Given the description of an element on the screen output the (x, y) to click on. 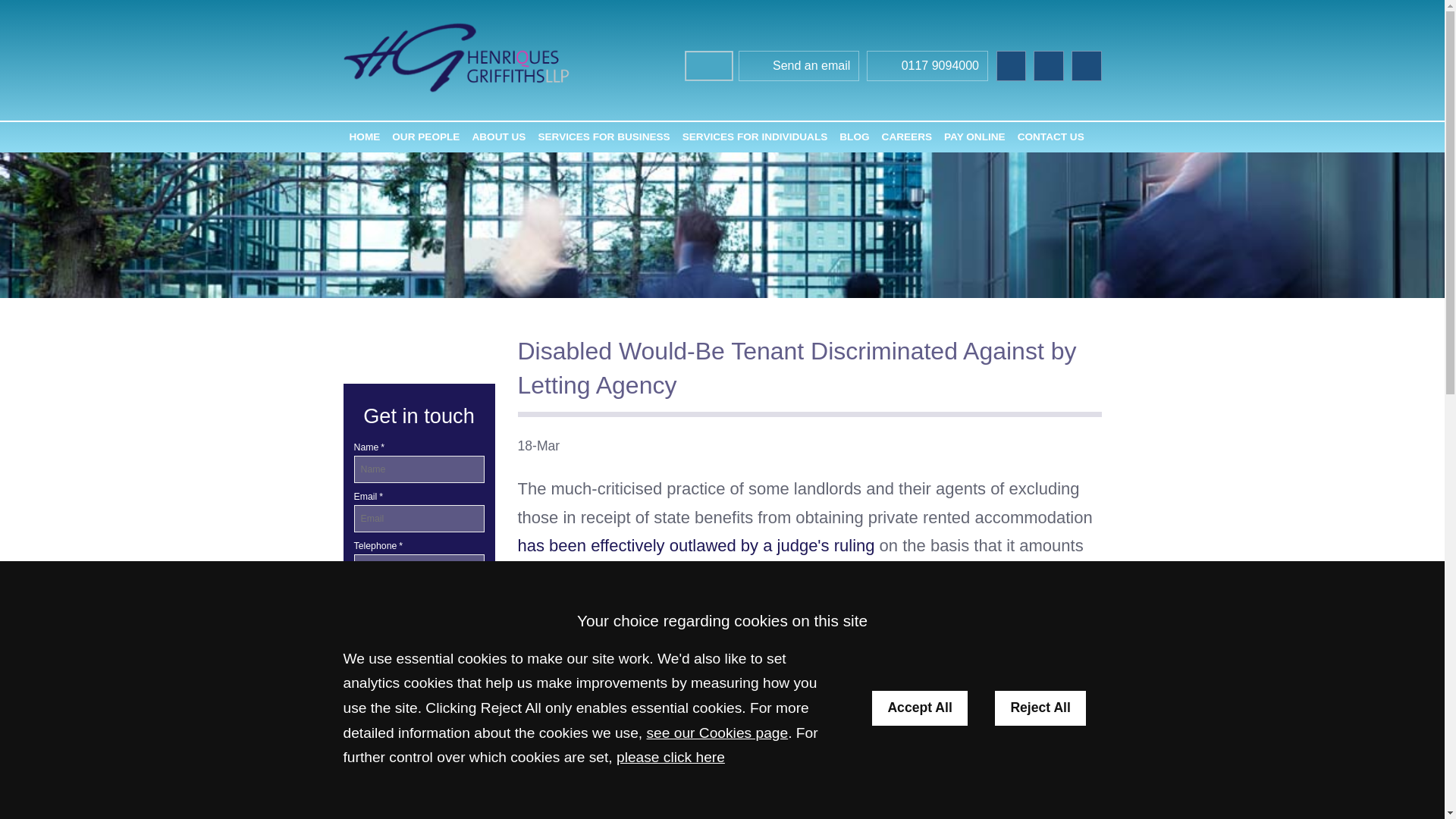
Send question (419, 615)
SERVICES FOR BUSINESS (603, 137)
Send an email (799, 67)
OUR PEOPLE (425, 137)
ABOUT US (498, 137)
0117 9094000 (927, 67)
Commercial Client (418, 761)
BLOG (853, 137)
Private Client (418, 794)
Library (363, 693)
